Given the description of an element on the screen output the (x, y) to click on. 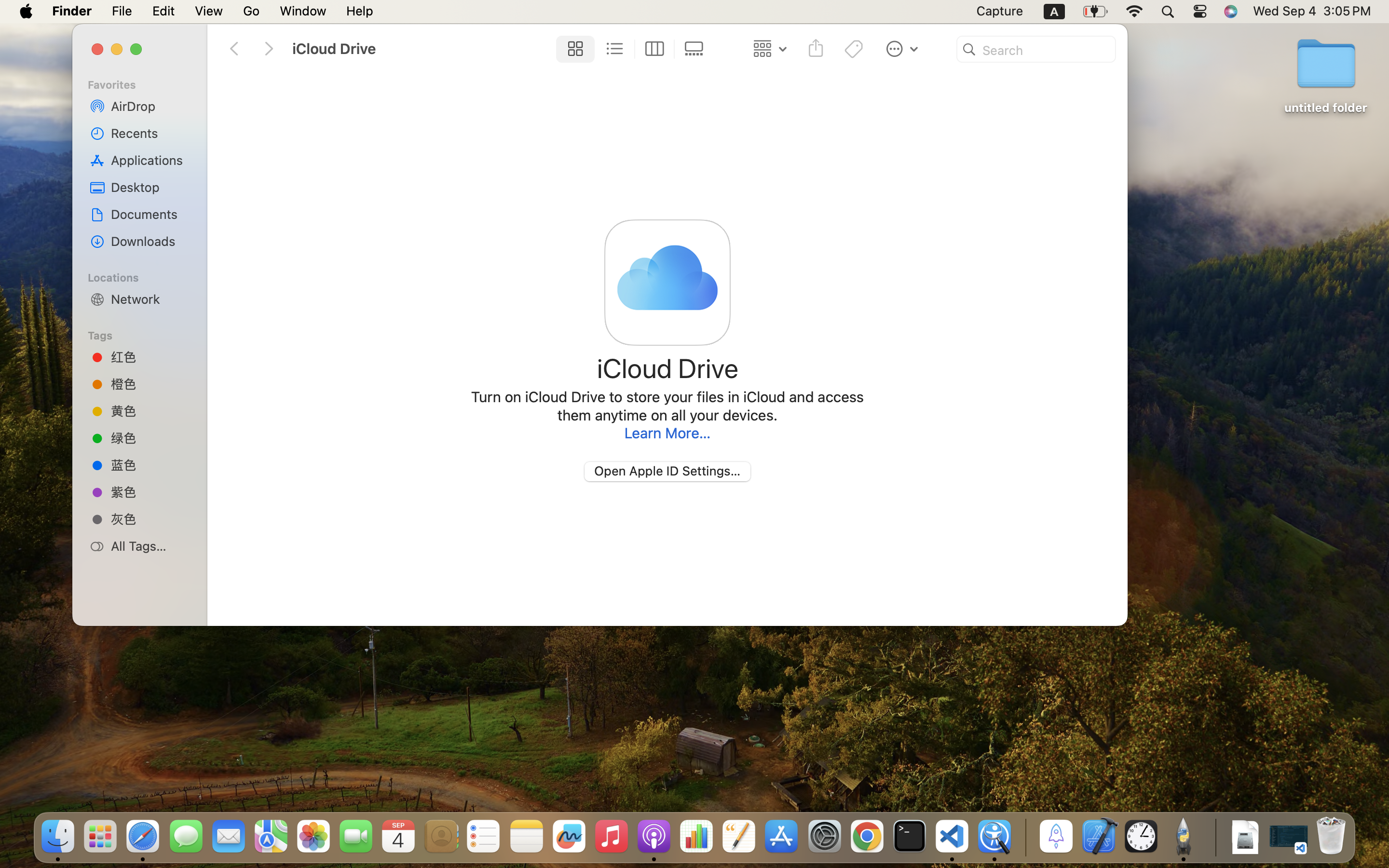
iCloud Drive Element type: AXStaticText (667, 367)
蓝色 Element type: AXStaticText (149, 464)
Tags Element type: AXStaticText (144, 334)
红色 Element type: AXStaticText (149, 356)
灰色 Element type: AXStaticText (149, 518)
